Given the description of an element on the screen output the (x, y) to click on. 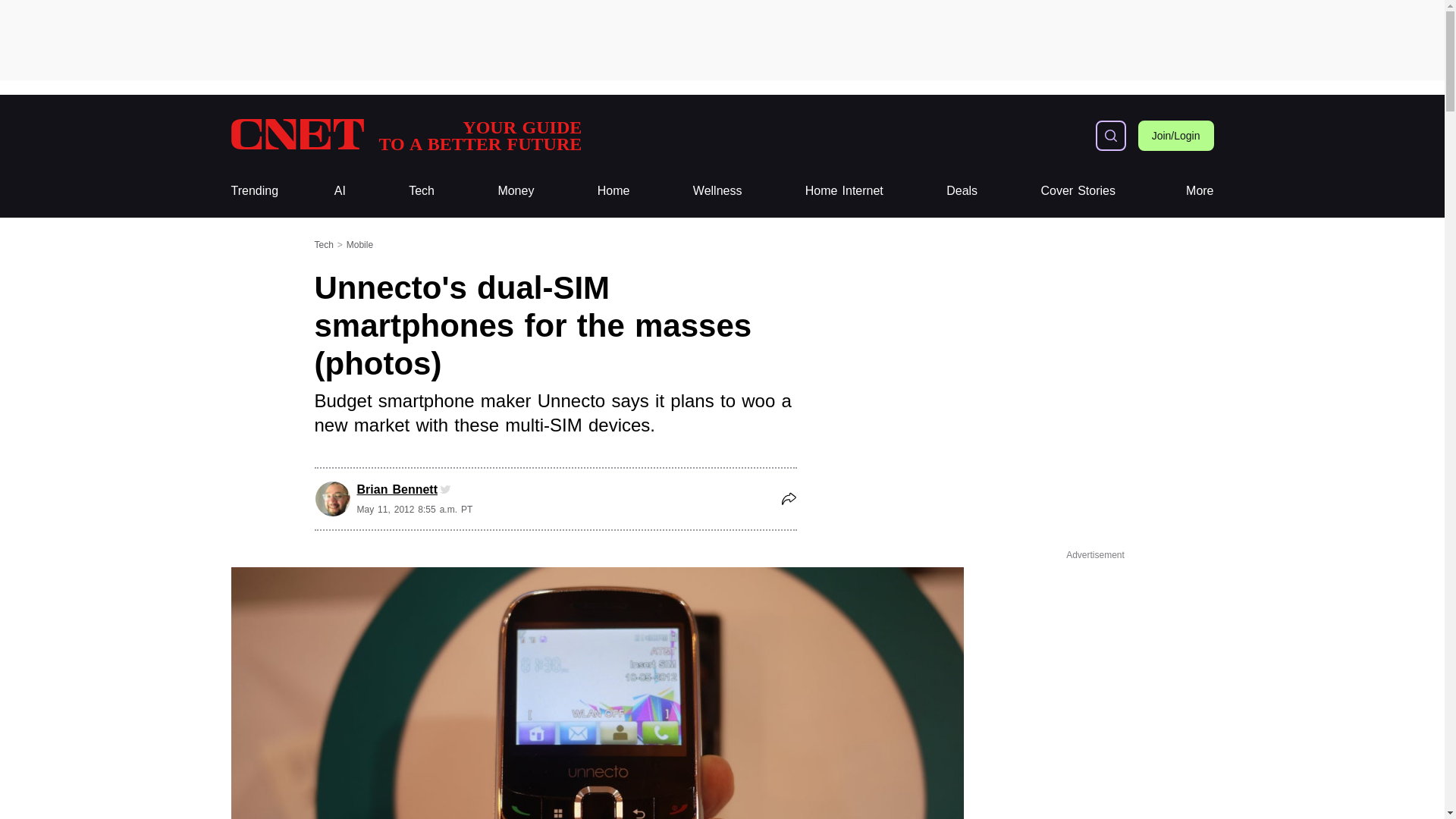
CNET (405, 135)
Tech (421, 190)
Wellness (717, 190)
Home Internet (844, 190)
Cover Stories (405, 135)
3rd party ad content (1078, 190)
Home Internet (721, 39)
Home (844, 190)
Money (613, 190)
Home (515, 190)
Trending (613, 190)
Deals (254, 190)
Tech (961, 190)
Trending (421, 190)
